Given the description of an element on the screen output the (x, y) to click on. 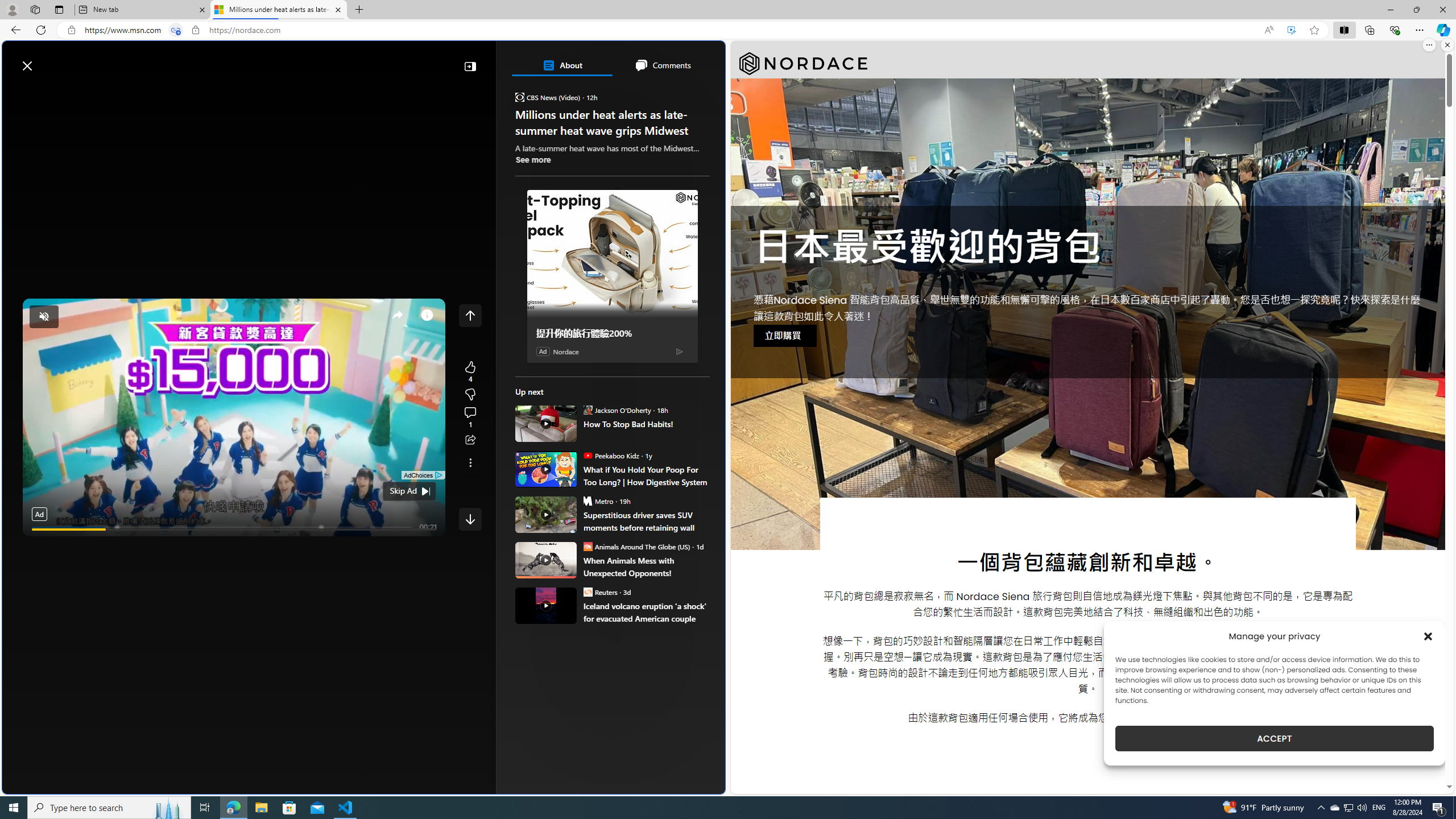
Metro Metro (597, 500)
Animals Around The Globe (US) (587, 546)
